Given the description of an element on the screen output the (x, y) to click on. 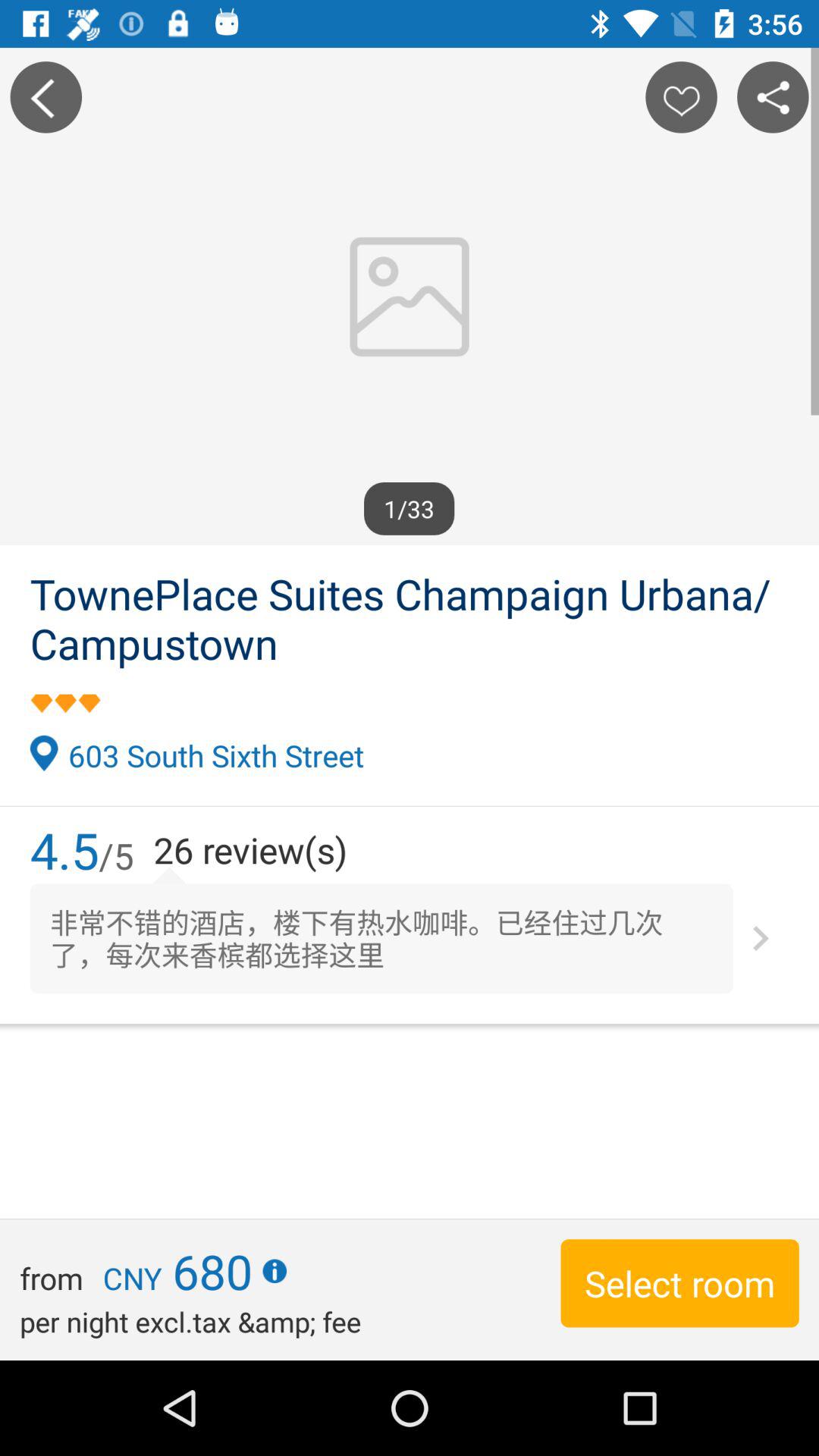
open the item to the right of the per night excl (679, 1283)
